Given the description of an element on the screen output the (x, y) to click on. 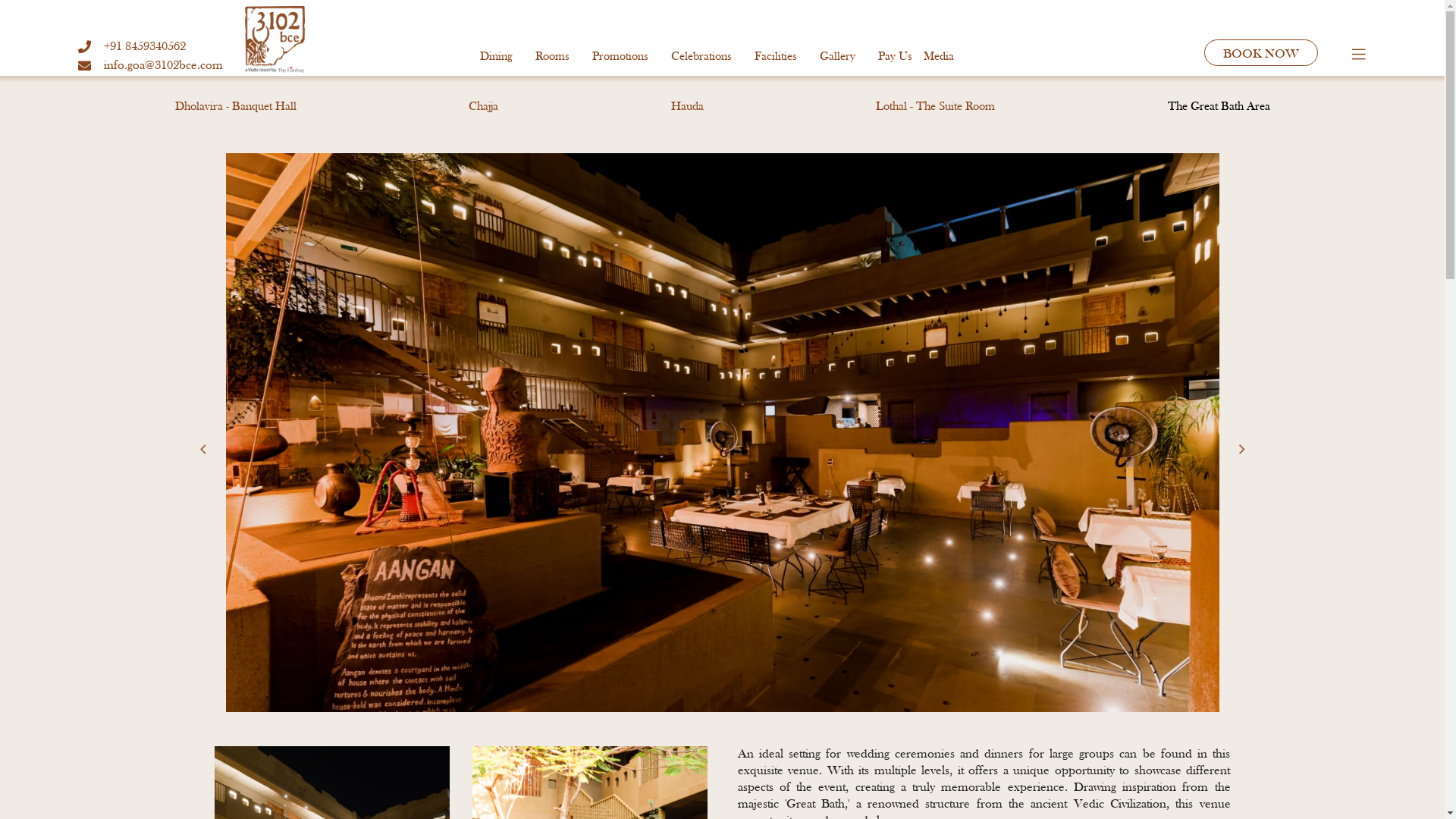
Chajja Element type: text (483, 106)
Book Now Element type: text (1260, 52)
info.goa@3102bce.com Element type: text (146, 65)
Media Element type: text (937, 56)
Lothal - The Suite Room Element type: text (935, 106)
Rooms Element type: text (551, 56)
Dining Element type: text (501, 56)
Previous Element type: text (202, 449)
Dholavira - Banquet Hall Element type: text (234, 106)
Hauda Element type: text (686, 106)
Pay Us Element type: text (888, 56)
Gallery Element type: text (837, 56)
Celebrations Element type: text (701, 56)
Facilities Element type: text (775, 56)
The Great Bath Area Element type: text (1218, 106)
Next Element type: text (1241, 449)
Promotions Element type: text (619, 56)
